Given the description of an element on the screen output the (x, y) to click on. 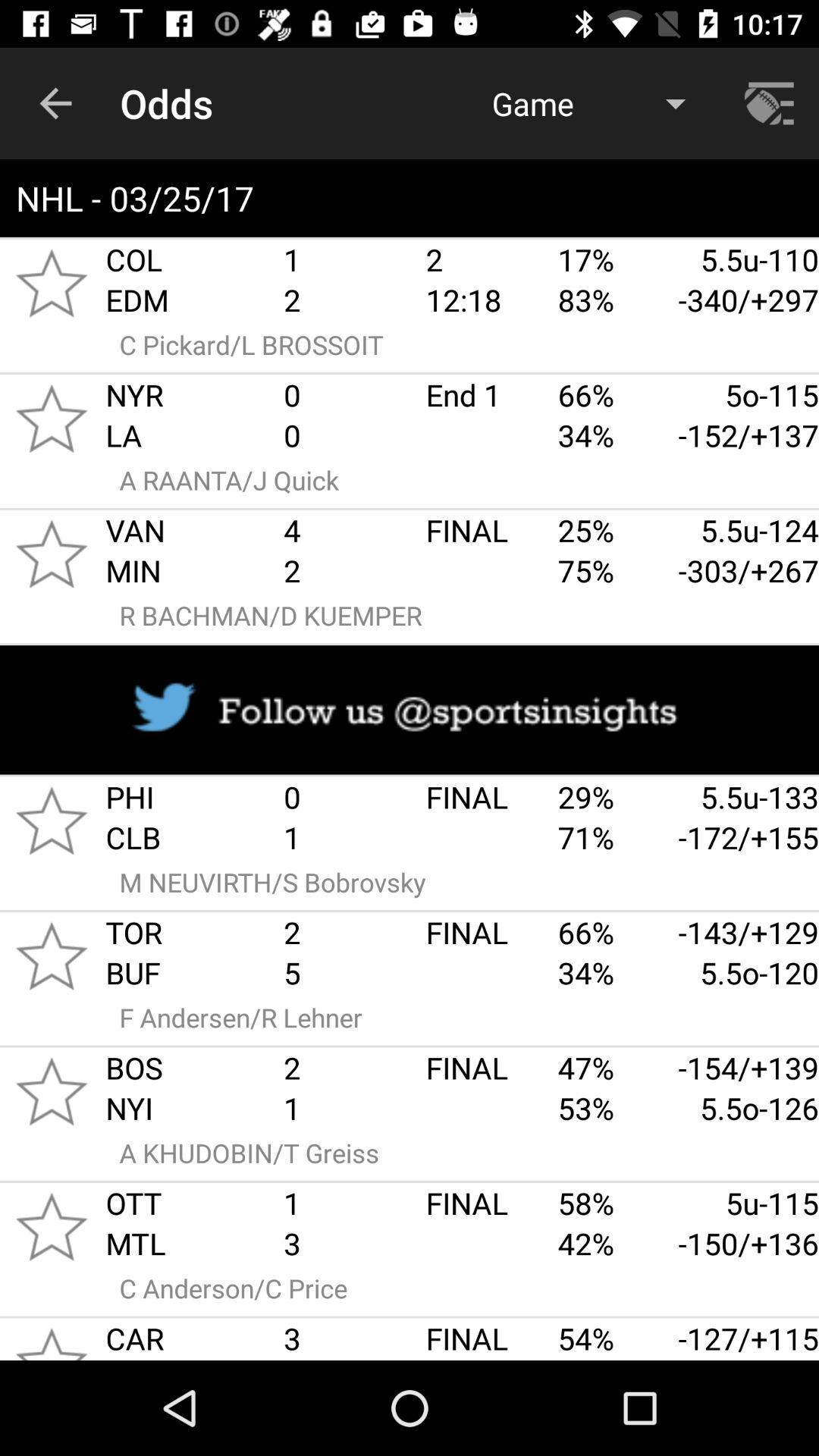
click to favorites option (51, 283)
